Given the description of an element on the screen output the (x, y) to click on. 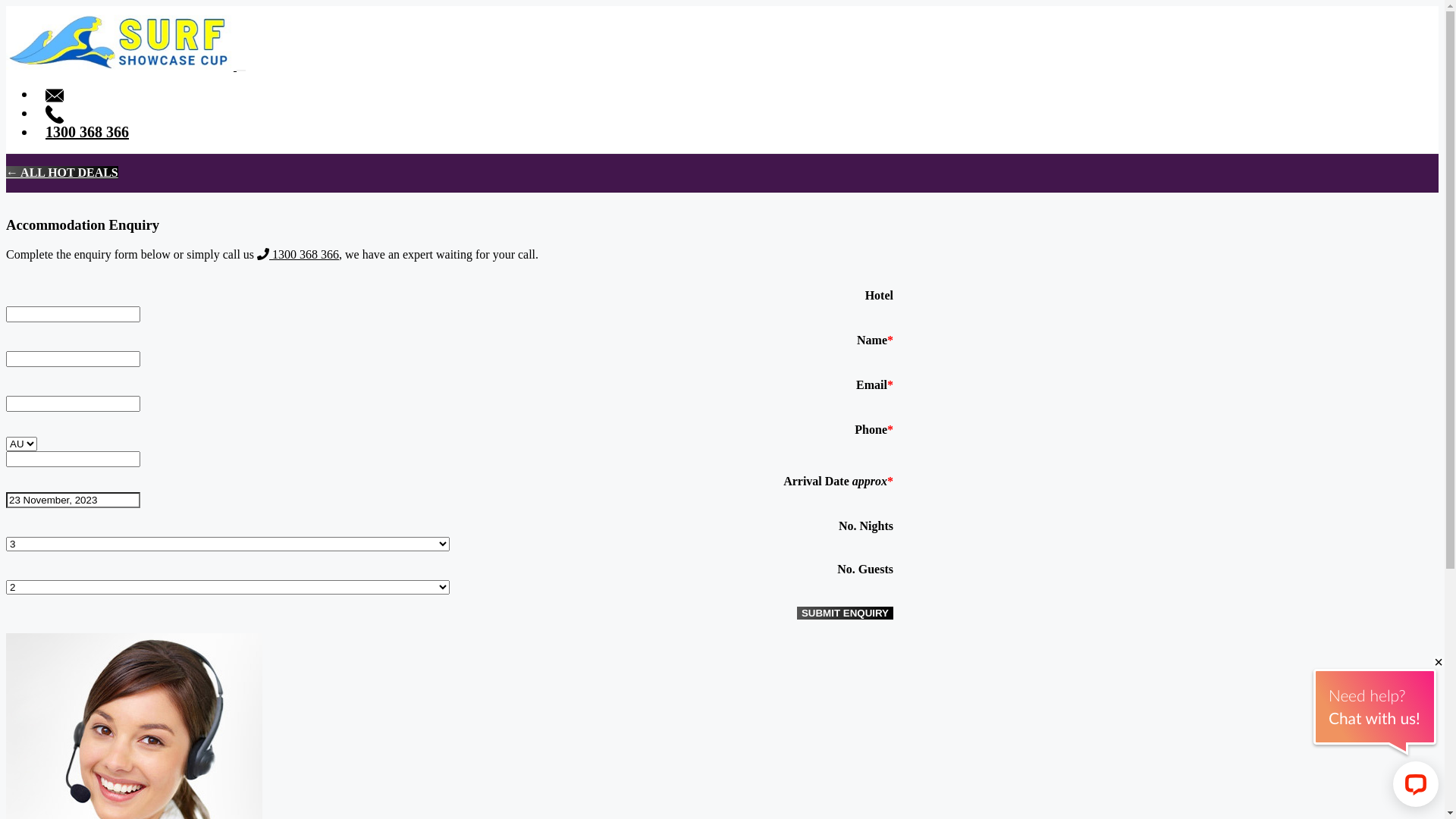
Submit Enquiry Element type: text (845, 612)
1300 368 366 Element type: text (87, 131)
1300 368 366 Element type: text (297, 253)
